Given the description of an element on the screen output the (x, y) to click on. 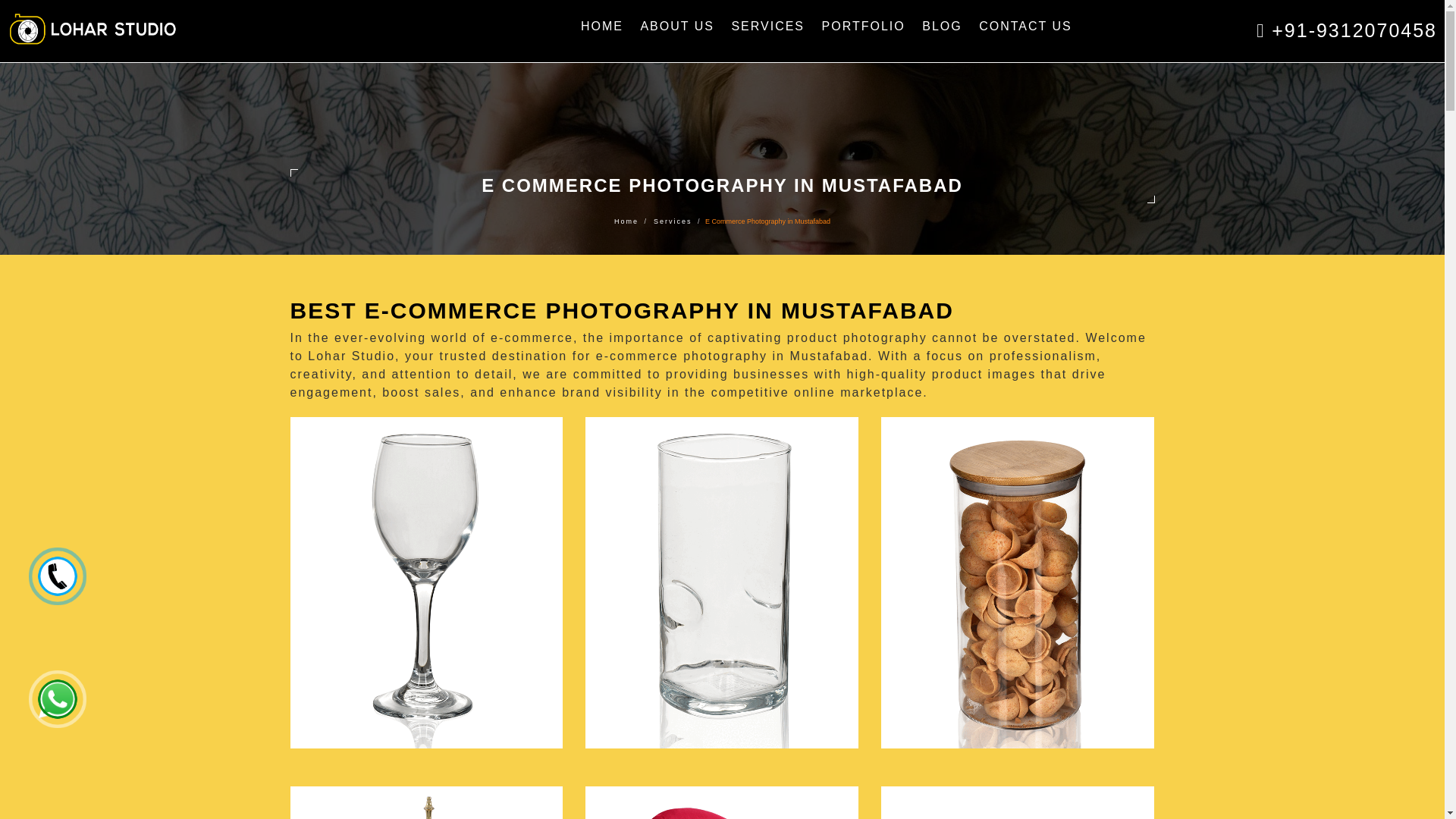
Services (673, 221)
BLOG (941, 26)
HOME (601, 26)
ABOUT US (676, 26)
PORTFOLIO (862, 26)
Home (626, 221)
SERVICES (767, 26)
CONTACT US (1025, 26)
